Given the description of an element on the screen output the (x, y) to click on. 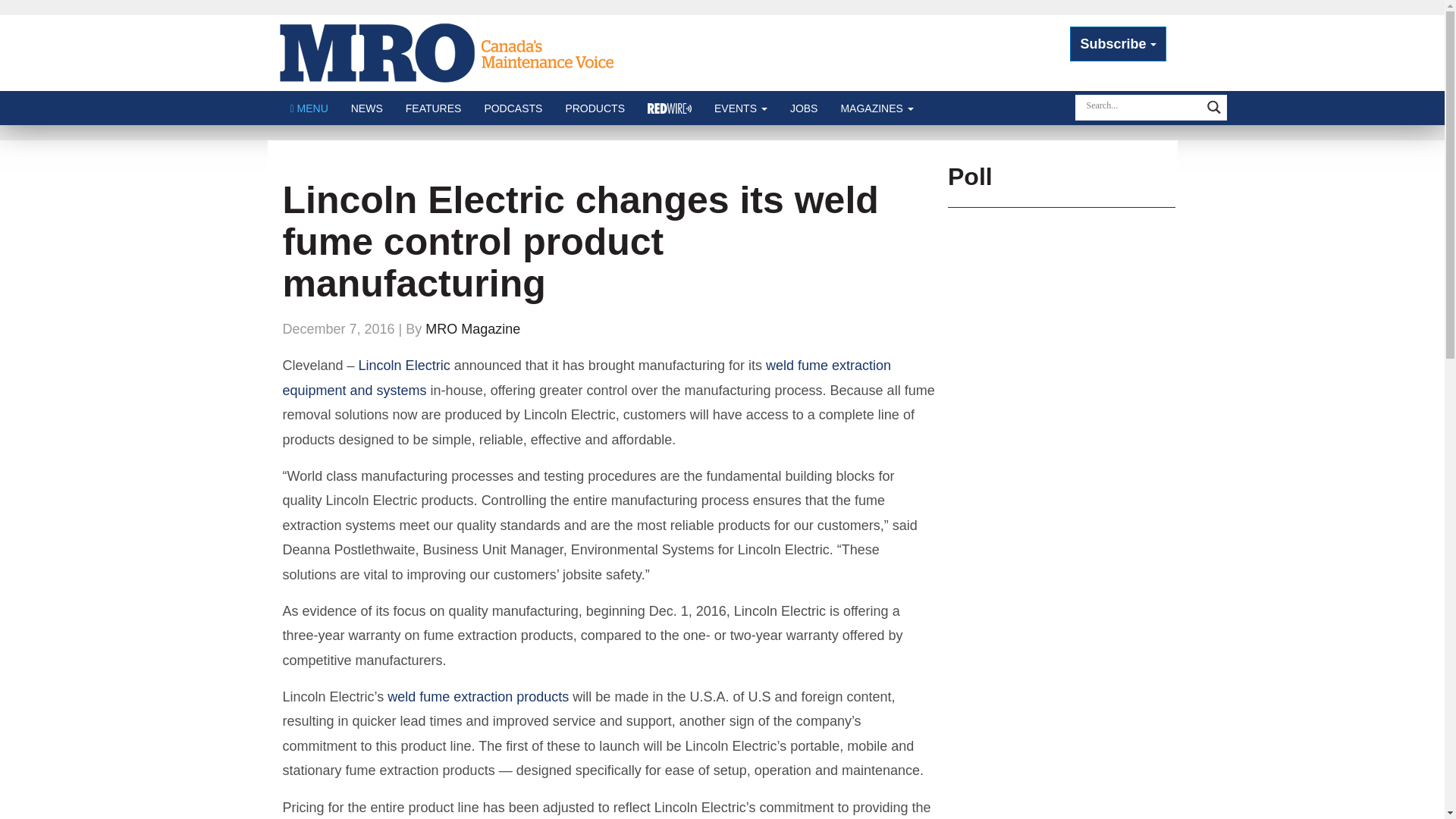
MRO Magazine (453, 52)
PODCASTS (512, 107)
MENU (309, 107)
JOBS (803, 107)
Click to show site navigation (309, 107)
MAGAZINES (876, 107)
EVENTS (740, 107)
FEATURES (433, 107)
NEWS (366, 107)
PRODUCTS (594, 107)
